Given the description of an element on the screen output the (x, y) to click on. 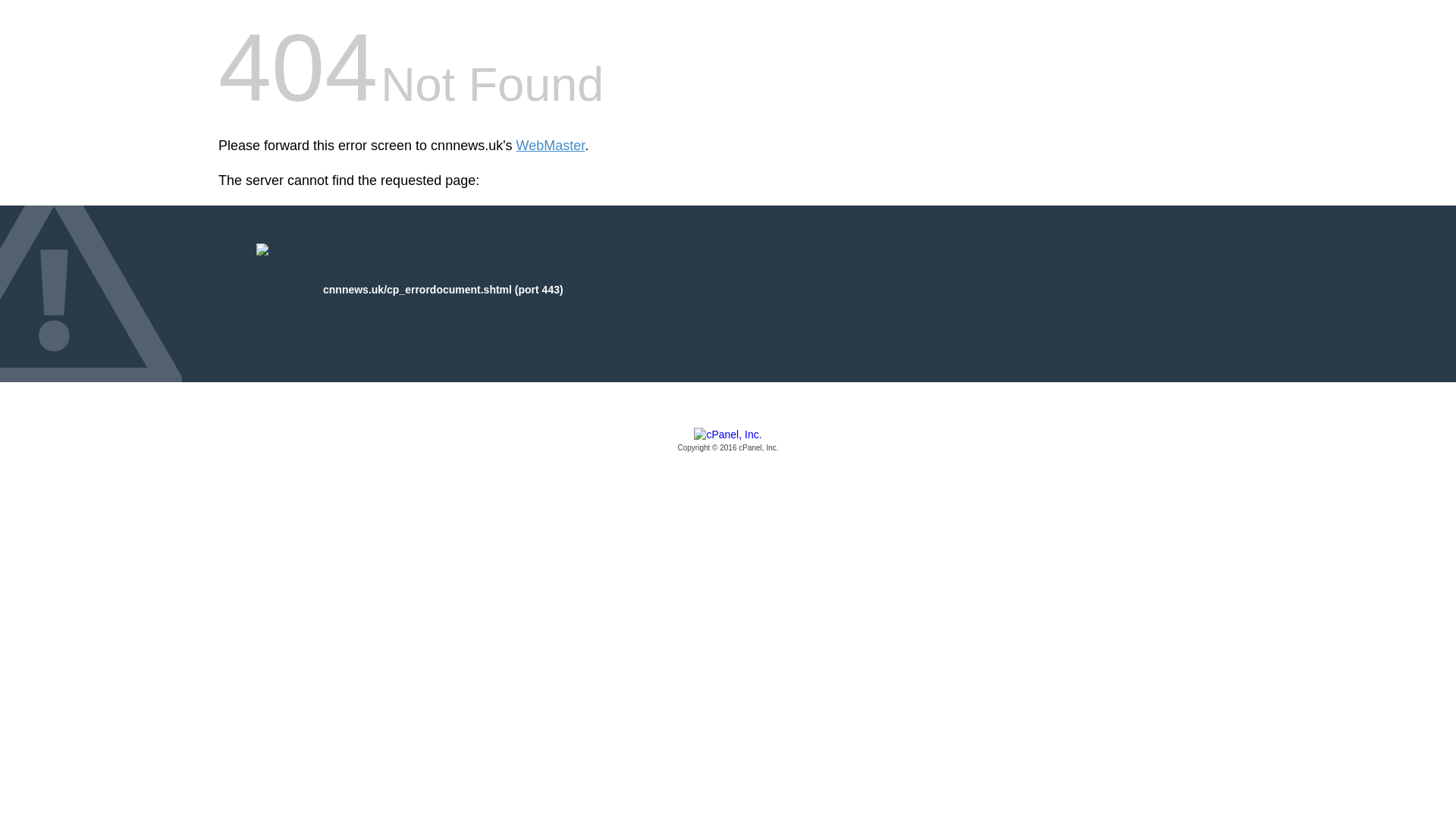
WebMaster (550, 145)
cPanel, Inc. (727, 440)
